Given the description of an element on the screen output the (x, y) to click on. 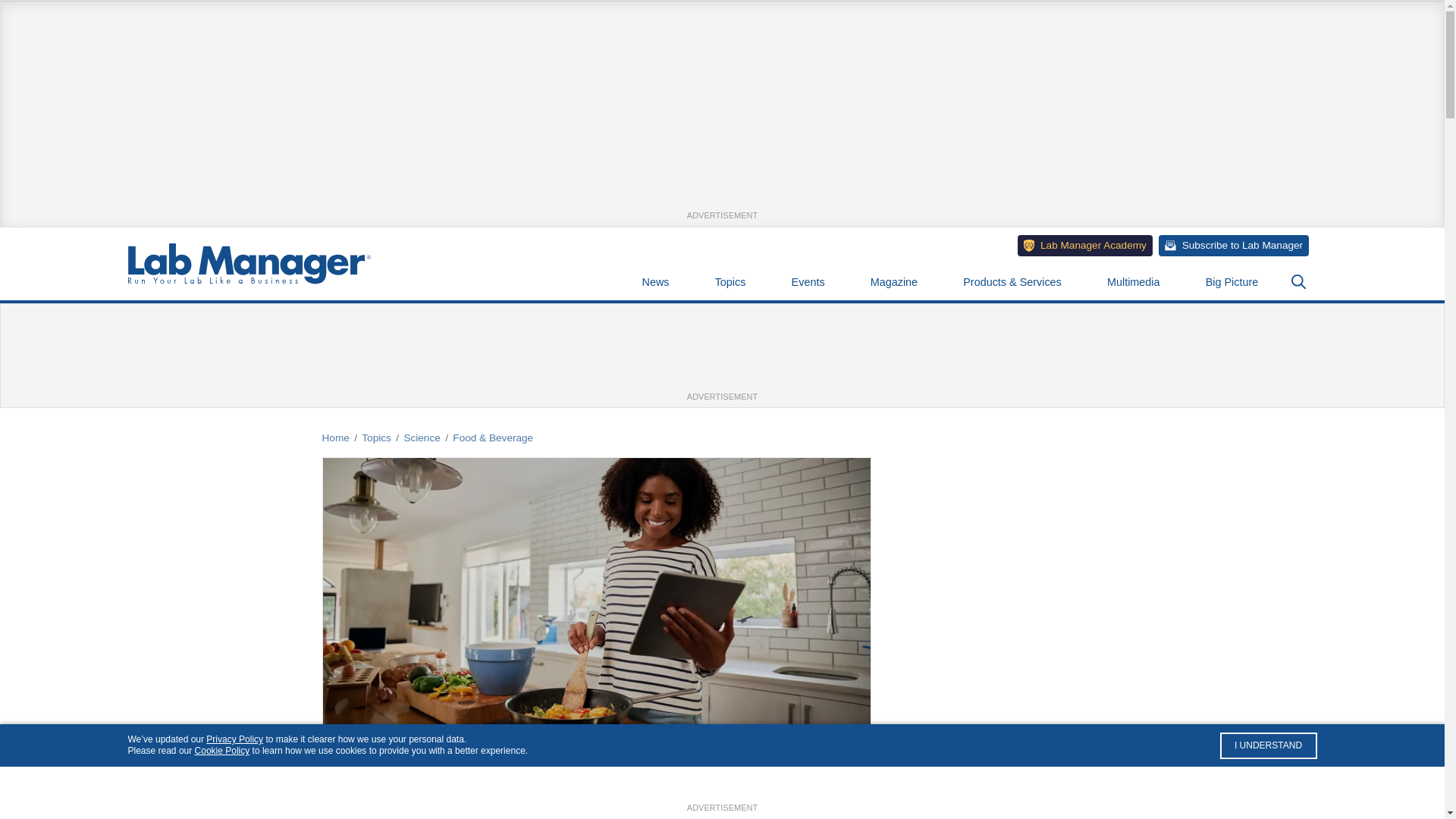
3rd party ad content (722, 355)
News (655, 282)
Open Search (1298, 281)
Topics (729, 282)
Lab Manager Academy (1085, 245)
Subscribe to Lab Manager (1233, 245)
